Given the description of an element on the screen output the (x, y) to click on. 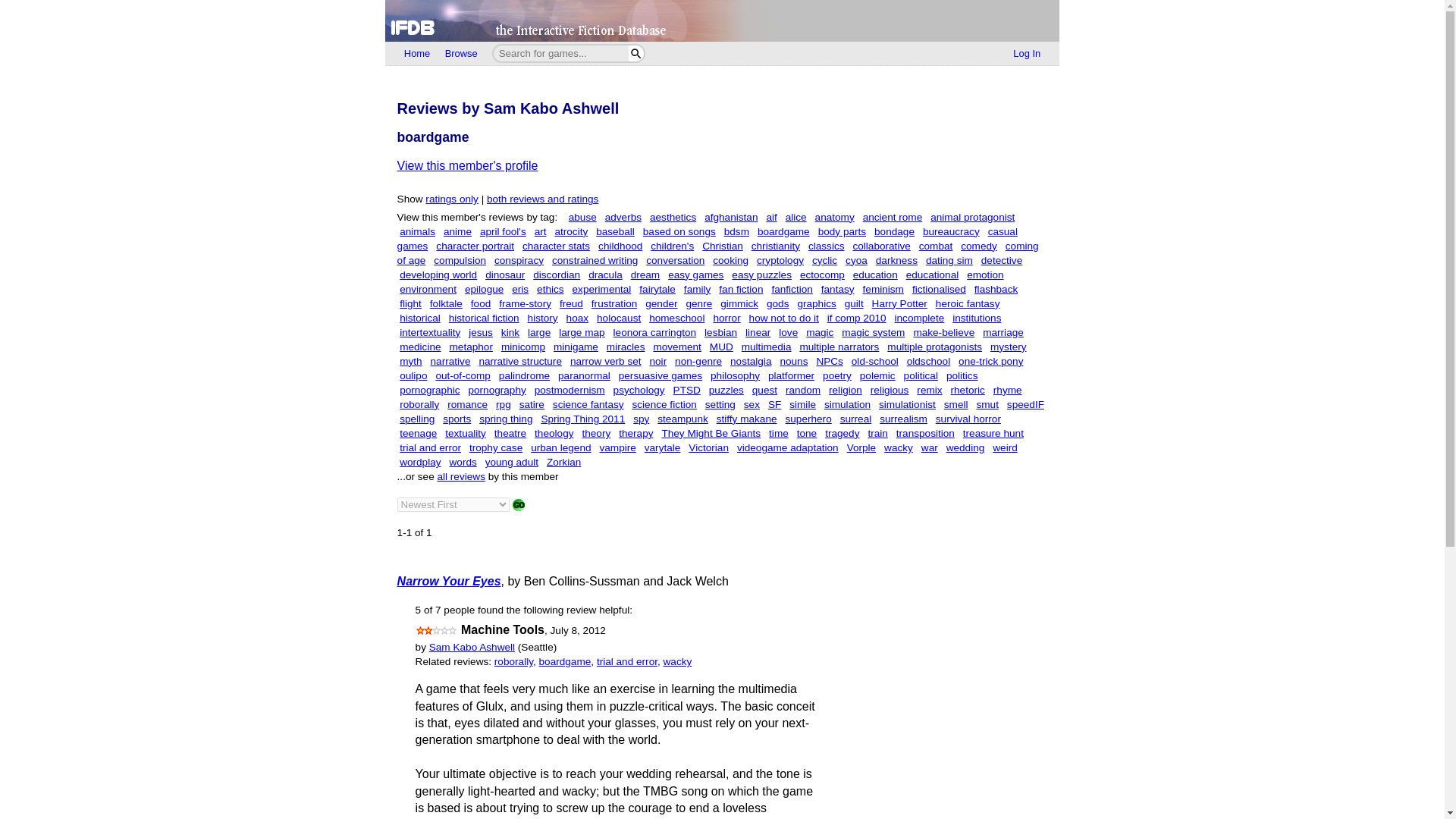
animals (416, 231)
boardgame (783, 231)
bondage (894, 231)
anime (457, 231)
both reviews and ratings (542, 198)
baseball (614, 231)
Christian (721, 245)
childhood (620, 245)
abuse (582, 216)
bureaucracy (951, 231)
april fool's (502, 231)
Browse (461, 53)
Home (417, 53)
classics (826, 245)
aif (770, 216)
